Given the description of an element on the screen output the (x, y) to click on. 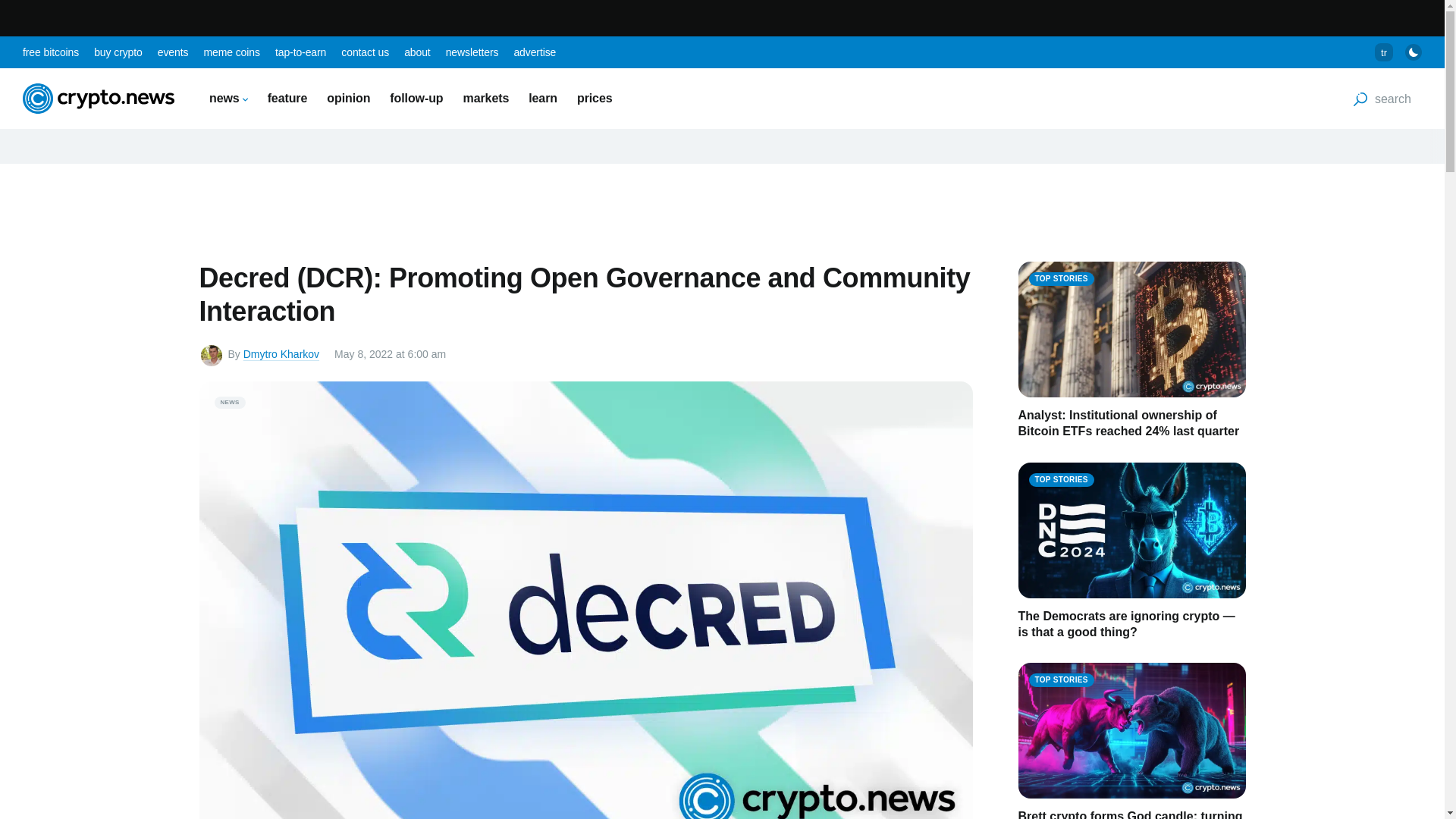
free bitcoins (50, 51)
buy crypto (118, 51)
learn (542, 97)
events (173, 51)
markets (486, 97)
about (417, 51)
tap-to-earn (300, 51)
contact us (364, 51)
crypto.news (98, 98)
crypto.news (98, 98)
